Given the description of an element on the screen output the (x, y) to click on. 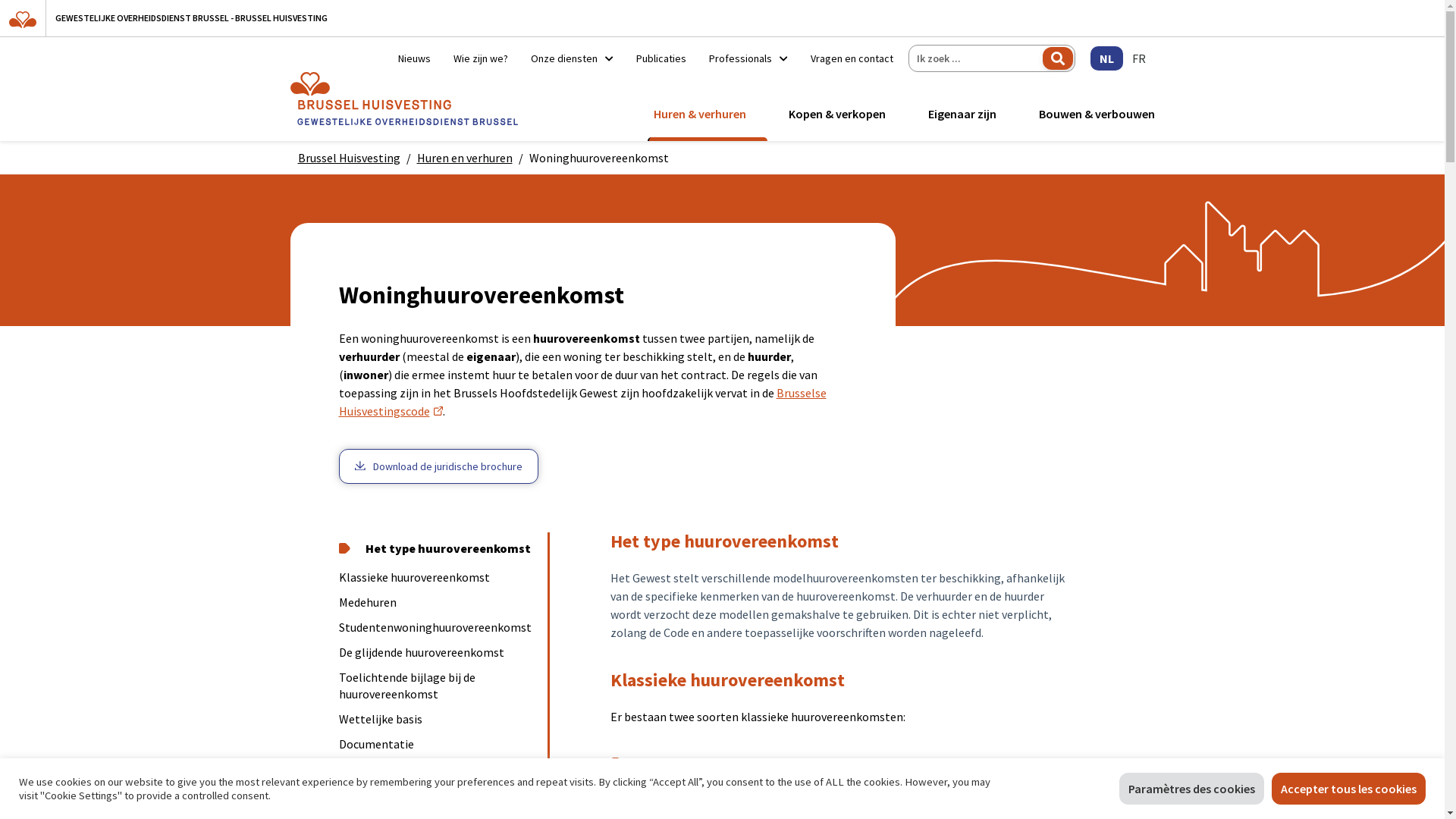
Huren & verhuren Element type: text (699, 113)
Bouwen & verbouwen Element type: text (1093, 113)
Studentenwoninghuurovereenkomst Element type: text (436, 627)
Het type huurovereenkomst Element type: text (436, 548)
Nieuws Element type: text (414, 58)
Huren en verhuren Element type: text (464, 157)
Professionals Element type: text (748, 58)
Combined Shape
Download de juridische brochure Element type: text (437, 465)
Eigenaar zijn Element type: text (962, 113)
Klassieke huurovereenkomst Element type: text (436, 576)
Wettelijke basis Element type: text (436, 718)
Zoeken Element type: text (1056, 58)
Brussel Huisvesting Element type: text (348, 157)
Brusselse Huisvestingscode
(nieuw venster) Element type: text (581, 401)
FR Element type: text (1138, 58)
Onze diensten Element type: text (571, 58)
Vragen en contact Element type: text (846, 58)
Medehuren Element type: text (436, 602)
NL Element type: text (1106, 58)
De glijdende huurovereenkomst Element type: text (436, 652)
Wie zijn we? Element type: text (479, 58)
Kopen & verkopen Element type: text (836, 113)
Publicaties Element type: text (660, 58)
Toelichtende bijlage bij de huurovereenkomst Element type: text (436, 685)
Documentatie Element type: text (436, 743)
Accepter tous les cookies Element type: text (1348, 788)
